Given the description of an element on the screen output the (x, y) to click on. 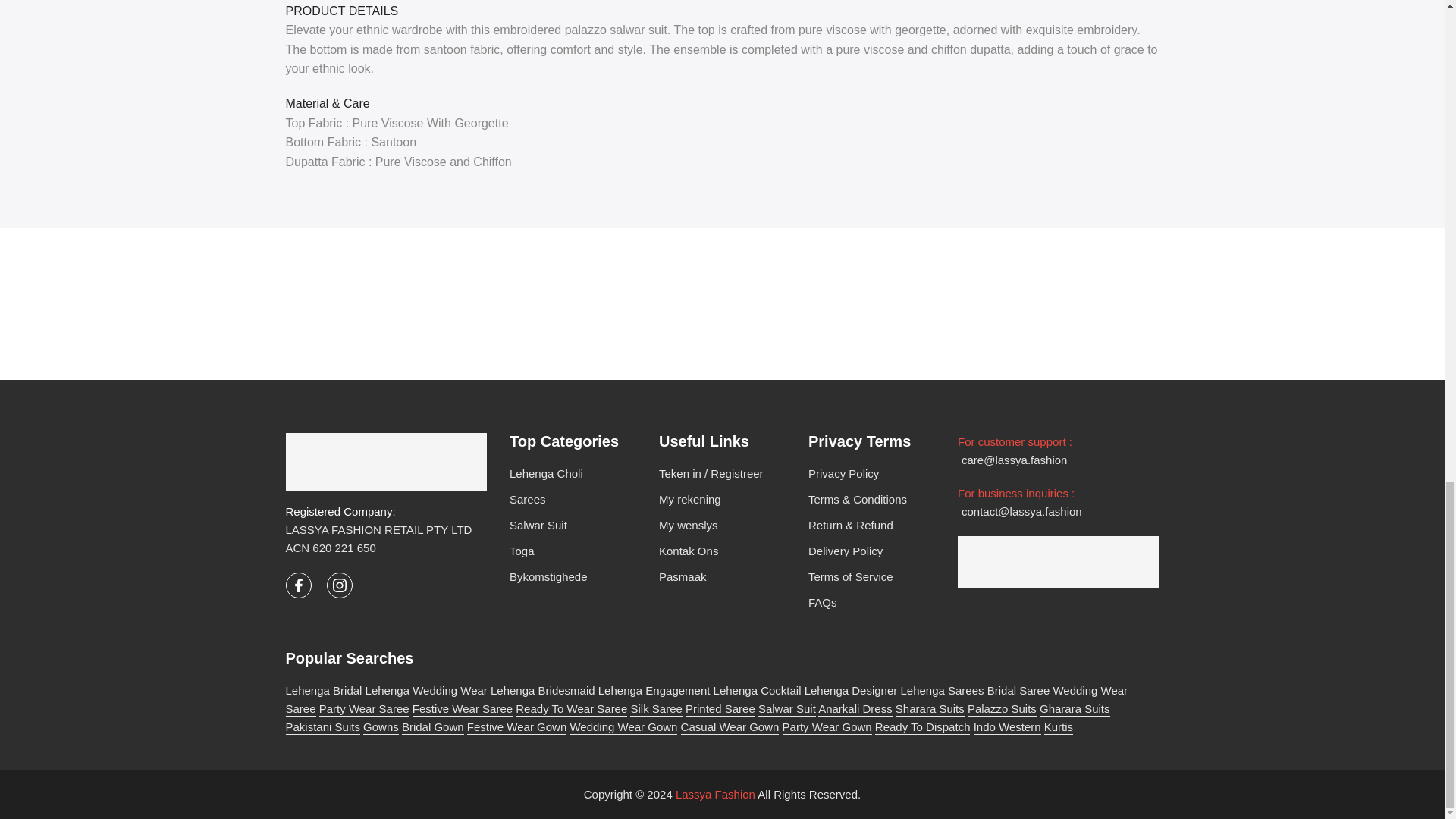
Follow on Instagram (339, 585)
Follow on Facebook (298, 585)
